Given the description of an element on the screen output the (x, y) to click on. 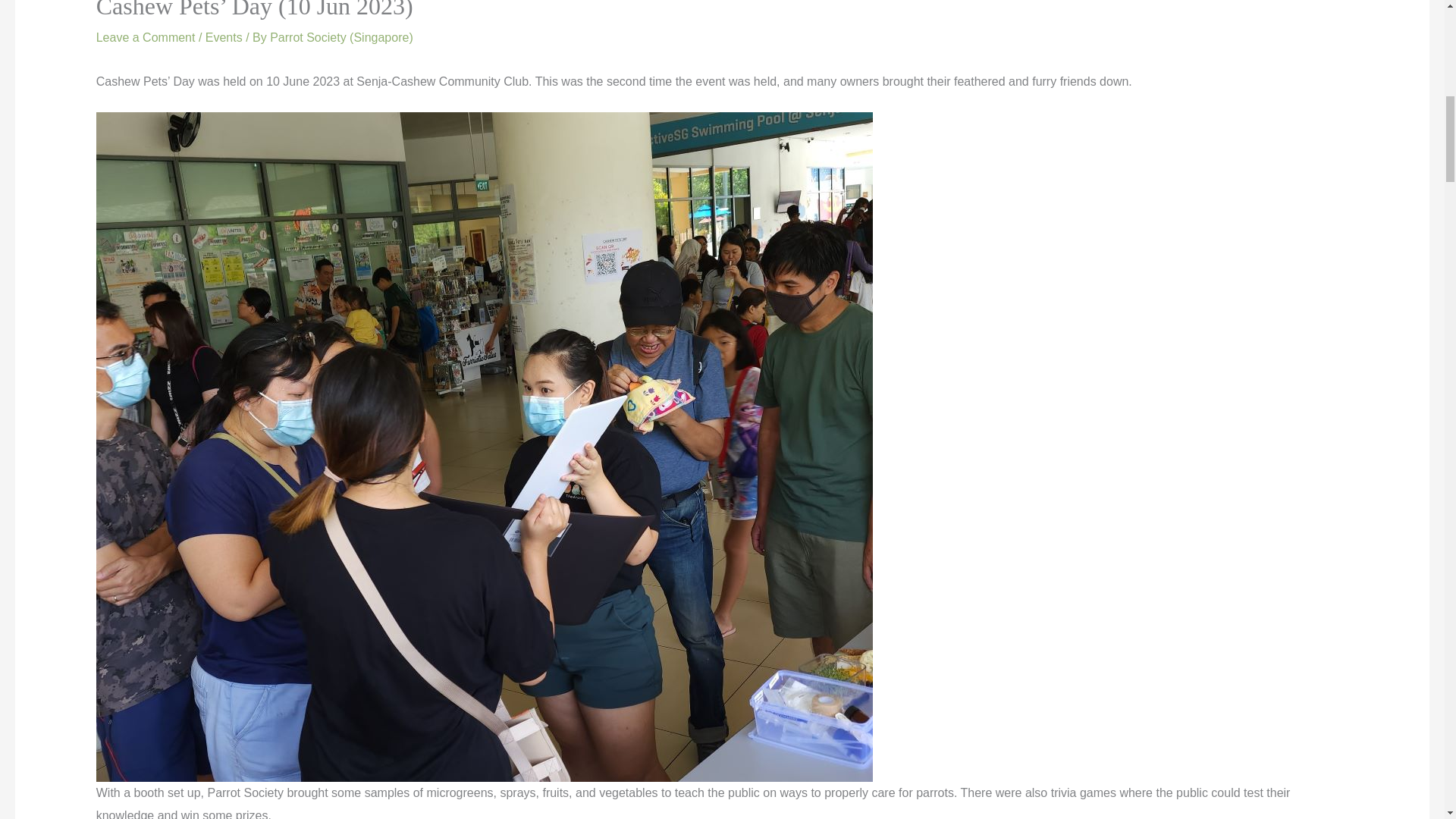
Events (224, 37)
Leave a Comment (145, 37)
